Given the description of an element on the screen output the (x, y) to click on. 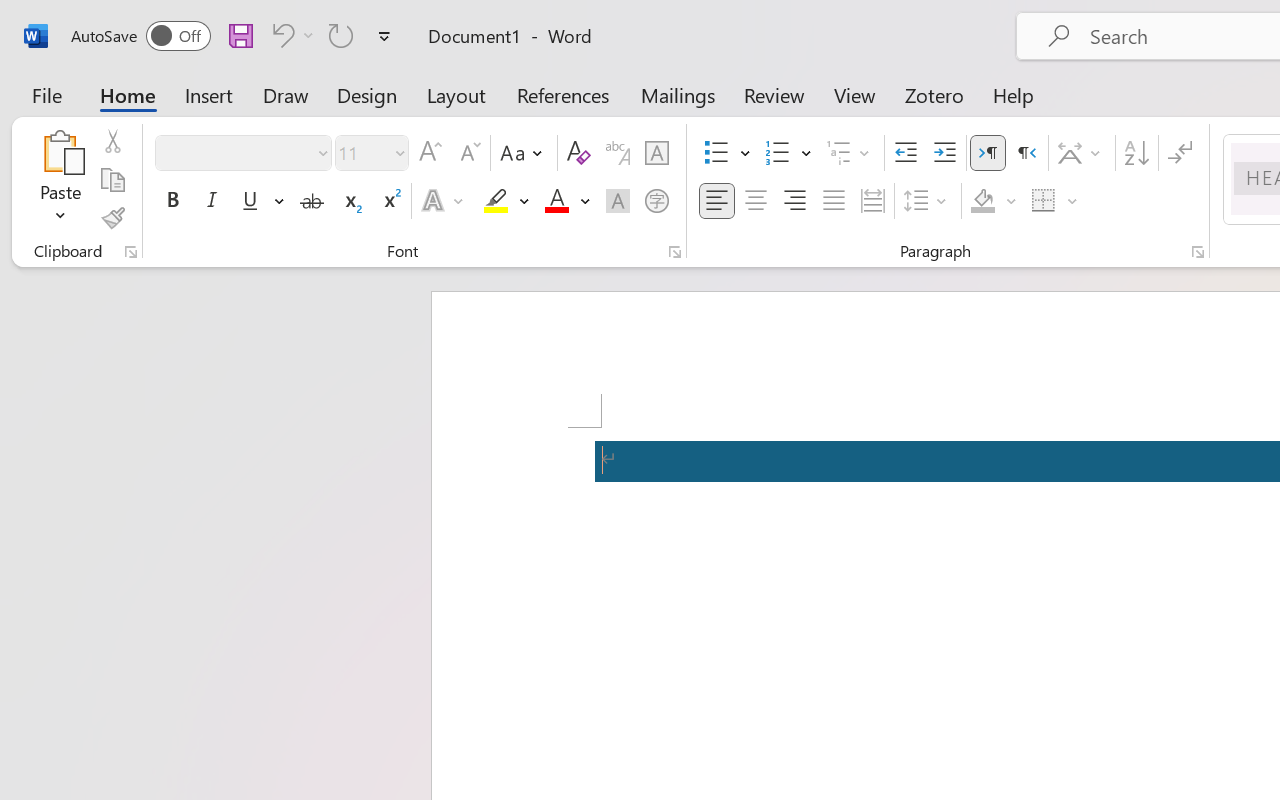
Undo Apply Quick Style Set (280, 35)
